Given the description of an element on the screen output the (x, y) to click on. 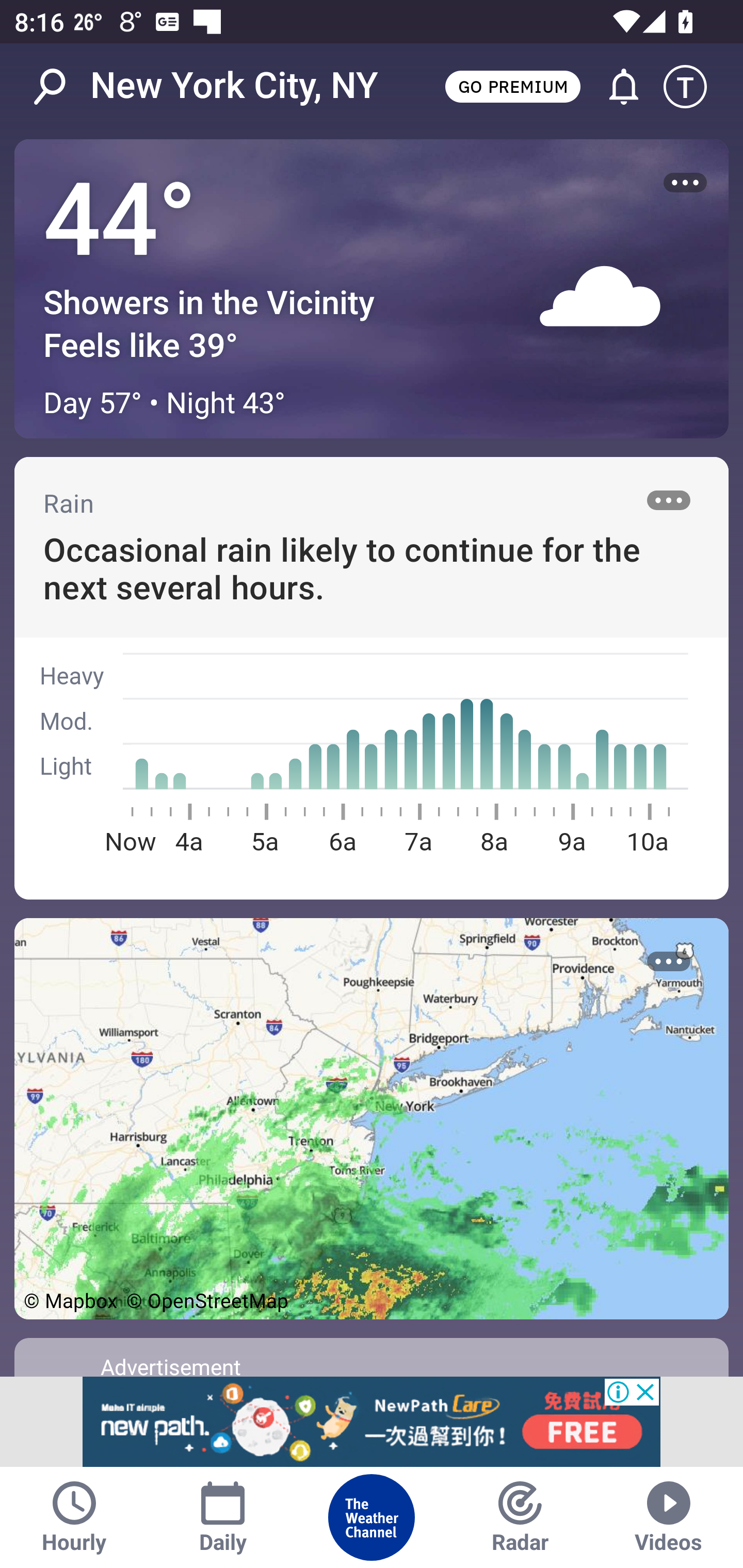
Search (59, 86)
Go to Alerts and Notifications (614, 86)
Setting icon T (694, 86)
New York City, NY (234, 85)
GO PREMIUM (512, 85)
More options (684, 182)
More options (668, 500)
See Map Details (371, 1118)
More options (668, 961)
newpathcare (371, 1421)
Hourly Tab Hourly (74, 1517)
Daily Tab Daily (222, 1517)
Radar Tab Radar (519, 1517)
Videos Tab Videos (668, 1517)
